Given the description of an element on the screen output the (x, y) to click on. 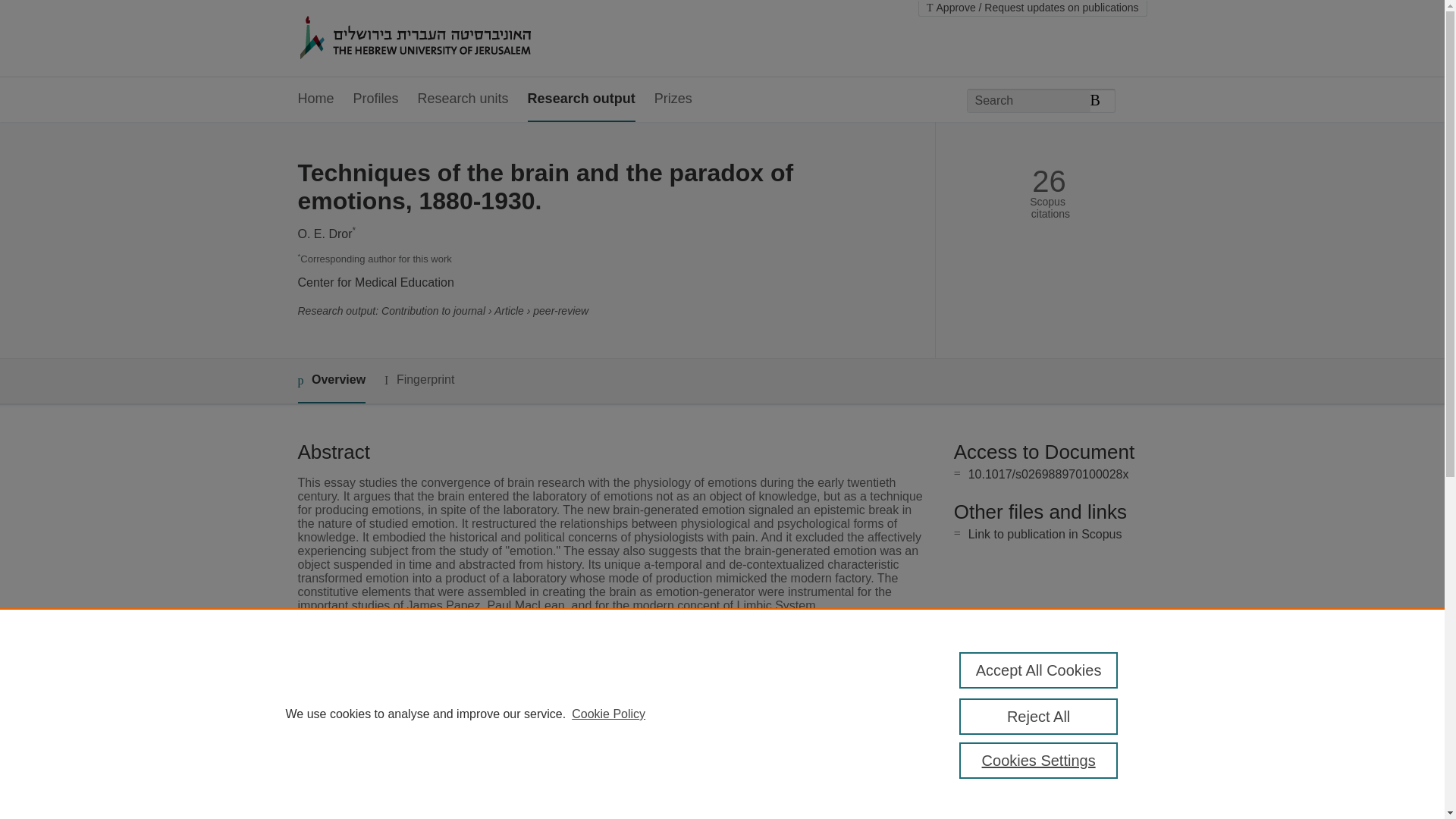
Fingerprint (419, 380)
Link to publication in Scopus (1045, 533)
Science in Context (560, 696)
Overview (331, 380)
Research units (462, 99)
The Hebrew University of Jerusalem Home (447, 38)
Research output (580, 99)
Profiles (375, 99)
Reject All (1038, 716)
O. E. Dror (324, 233)
Cookie Policy (608, 713)
Center for Medical Education (374, 282)
Cookies Settings (1038, 760)
